Given the description of an element on the screen output the (x, y) to click on. 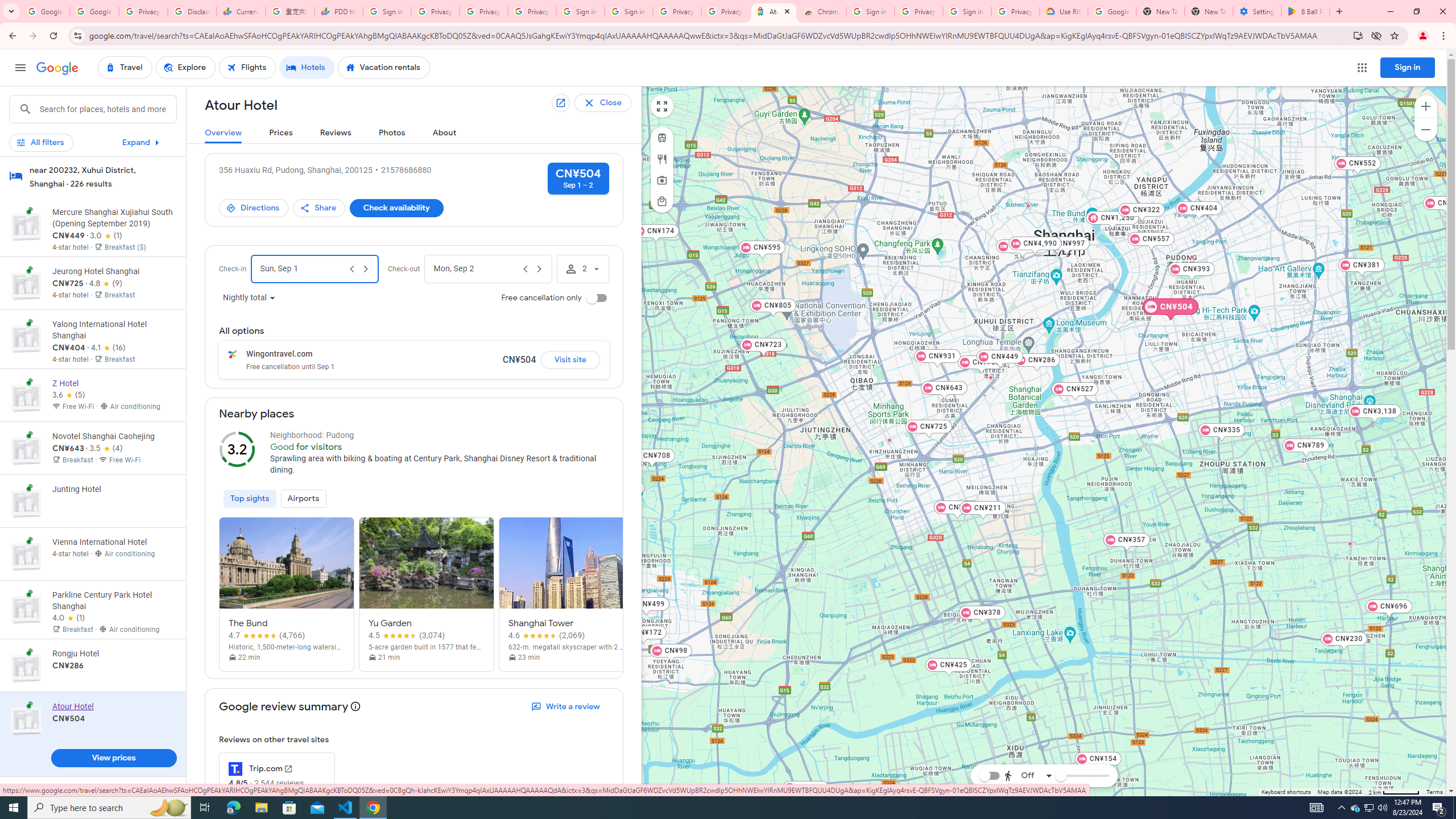
8 Ball Pool - Apps on Google Play (1305, 11)
Vienna International Hotel (1027, 205)
Sign in - Google Accounts (628, 11)
Prices (280, 133)
Google Workspace Admin Community (45, 11)
3.6 out of 5 stars from 5 reviews (68, 395)
Directions (253, 207)
